Given the description of an element on the screen output the (x, y) to click on. 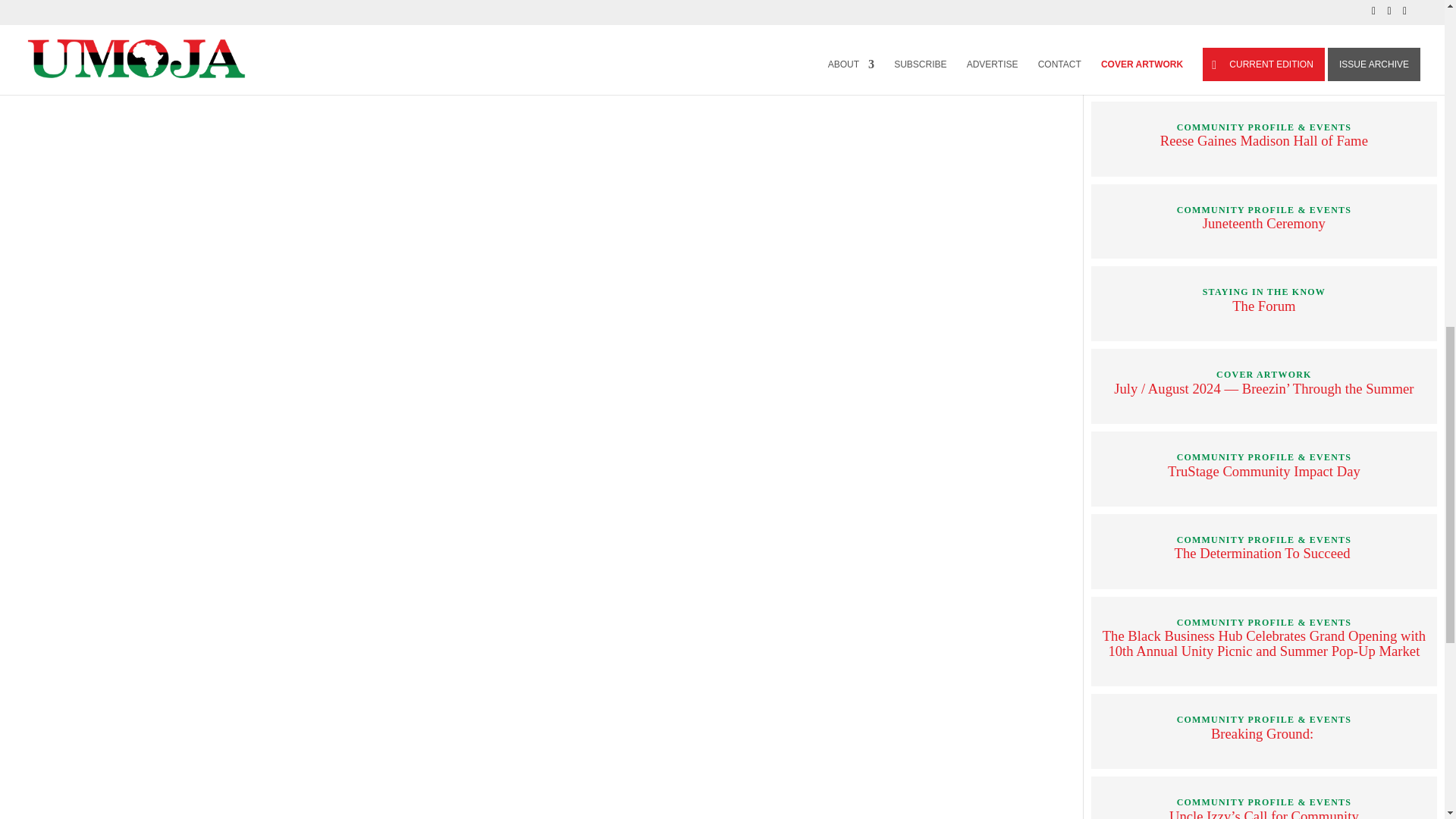
Juneteenth Ceremony (1263, 222)
Breaking Ground:  (1264, 733)
Reese Gaines Madison Hall of Fame (1264, 140)
TruStage Community Impact Day (1263, 471)
The Forum (1263, 305)
Community Leaders Great and Meet (1264, 58)
The Determination To Succeed  (1264, 553)
